Given the description of an element on the screen output the (x, y) to click on. 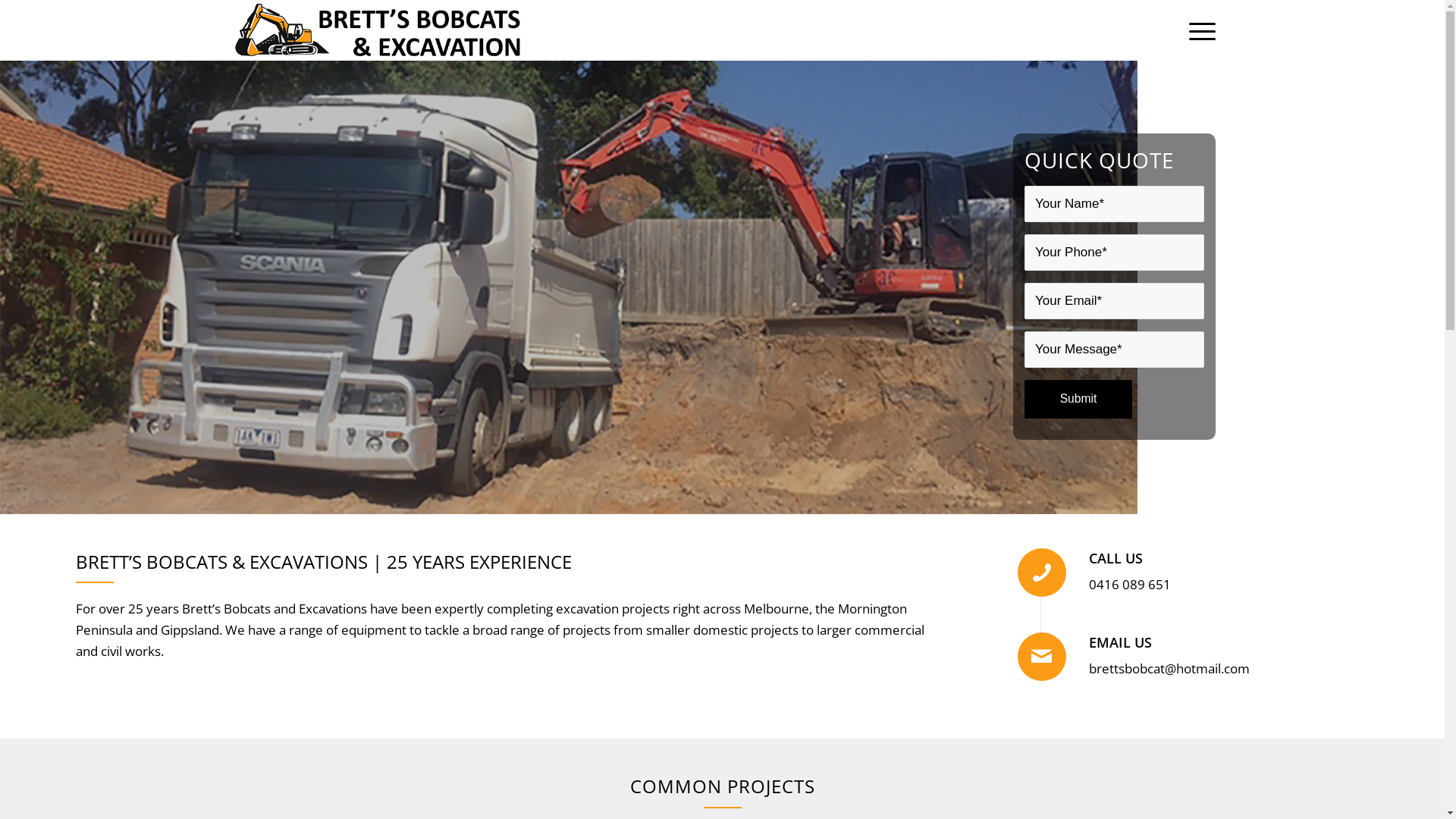
0416 089 651 Element type: text (1129, 584)
brettsbobcat@hotmail.com Element type: text (1168, 668)
Submit Element type: text (1078, 398)
Bretts Bobcats Logo 600px Element type: hover (378, 30)
